Given the description of an element on the screen output the (x, y) to click on. 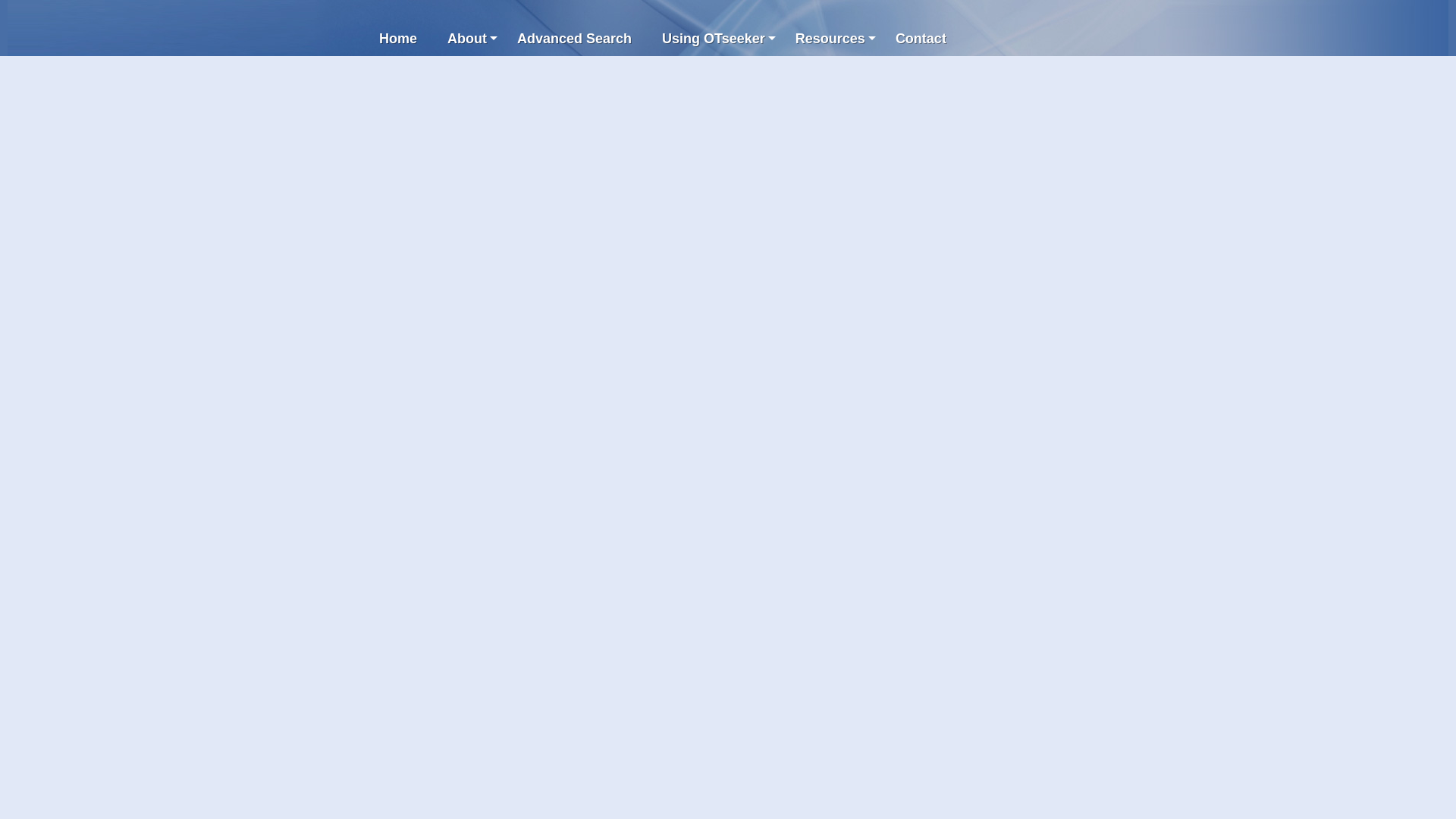
Contact (920, 38)
About (467, 38)
Resources (830, 38)
Using OTseeker (713, 38)
Home (398, 38)
Advanced Search (574, 38)
